Given the description of an element on the screen output the (x, y) to click on. 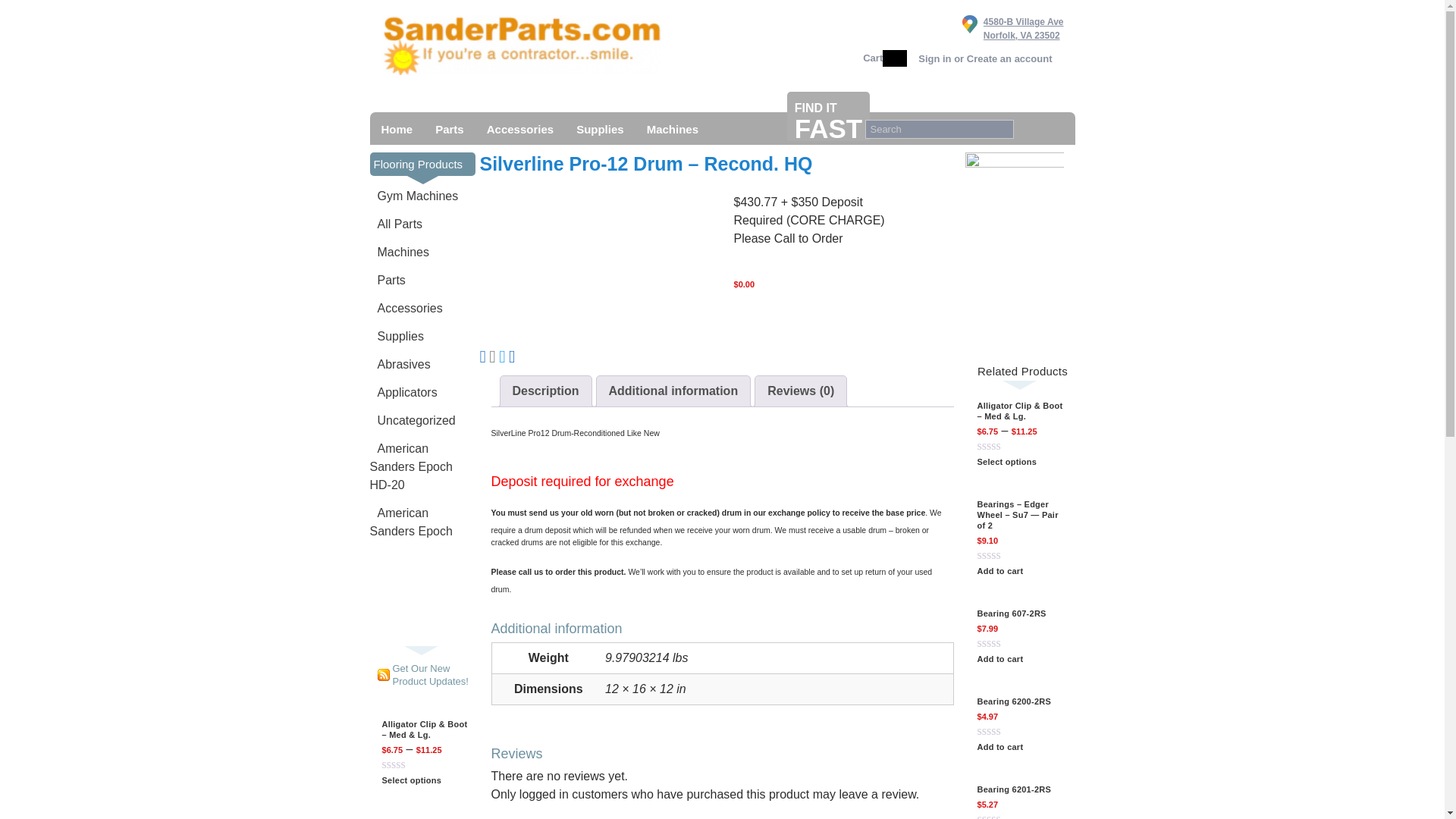
Gym Machines (413, 196)
Machines (672, 128)
Applicators (403, 392)
Accessories (520, 128)
Cart (872, 58)
Abrasives (399, 364)
All Parts (396, 224)
Parts (387, 280)
Home (397, 128)
Machines (399, 252)
